Given the description of an element on the screen output the (x, y) to click on. 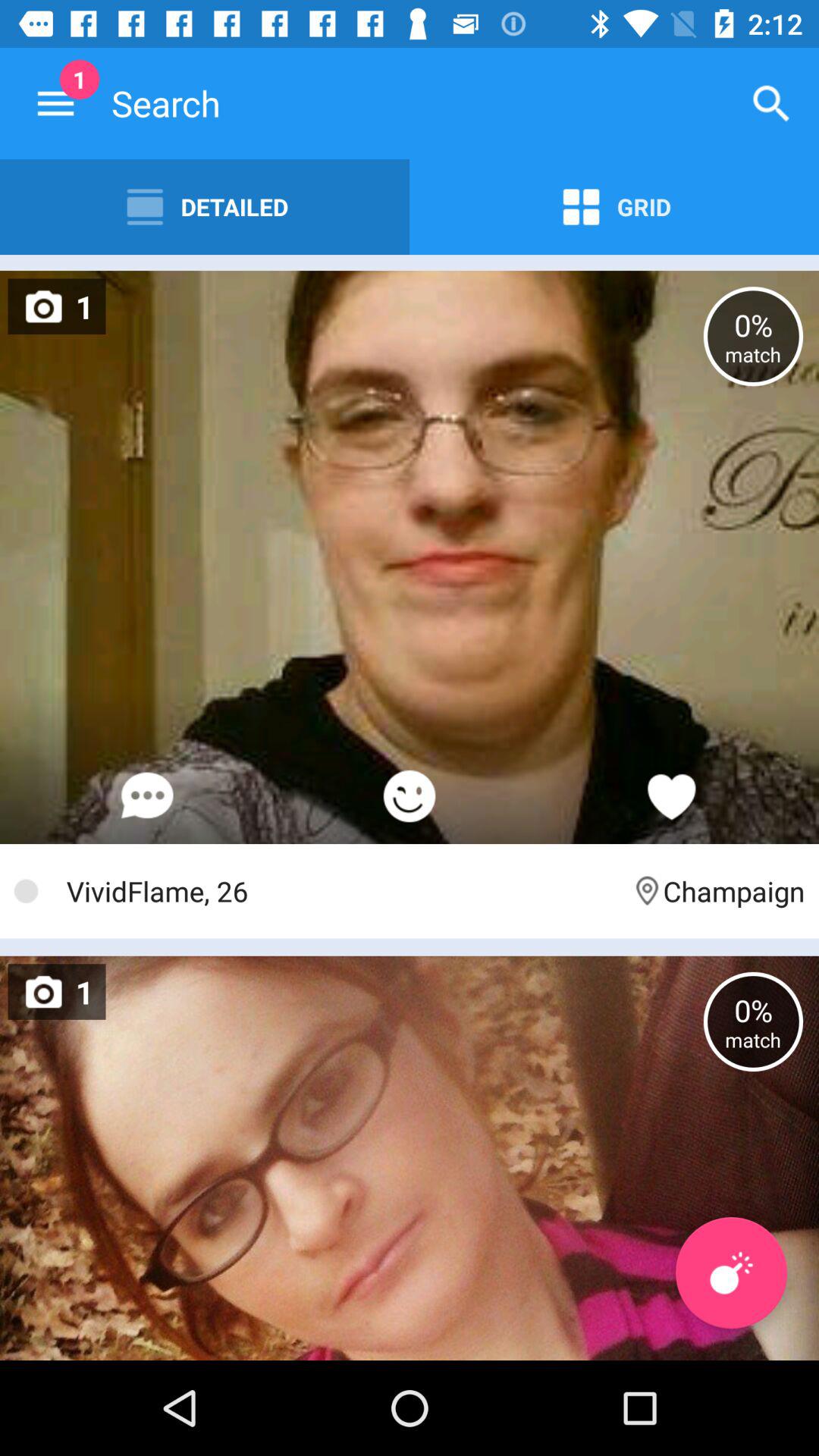
select item to the right of vividflame, 26 (717, 891)
